Given the description of an element on the screen output the (x, y) to click on. 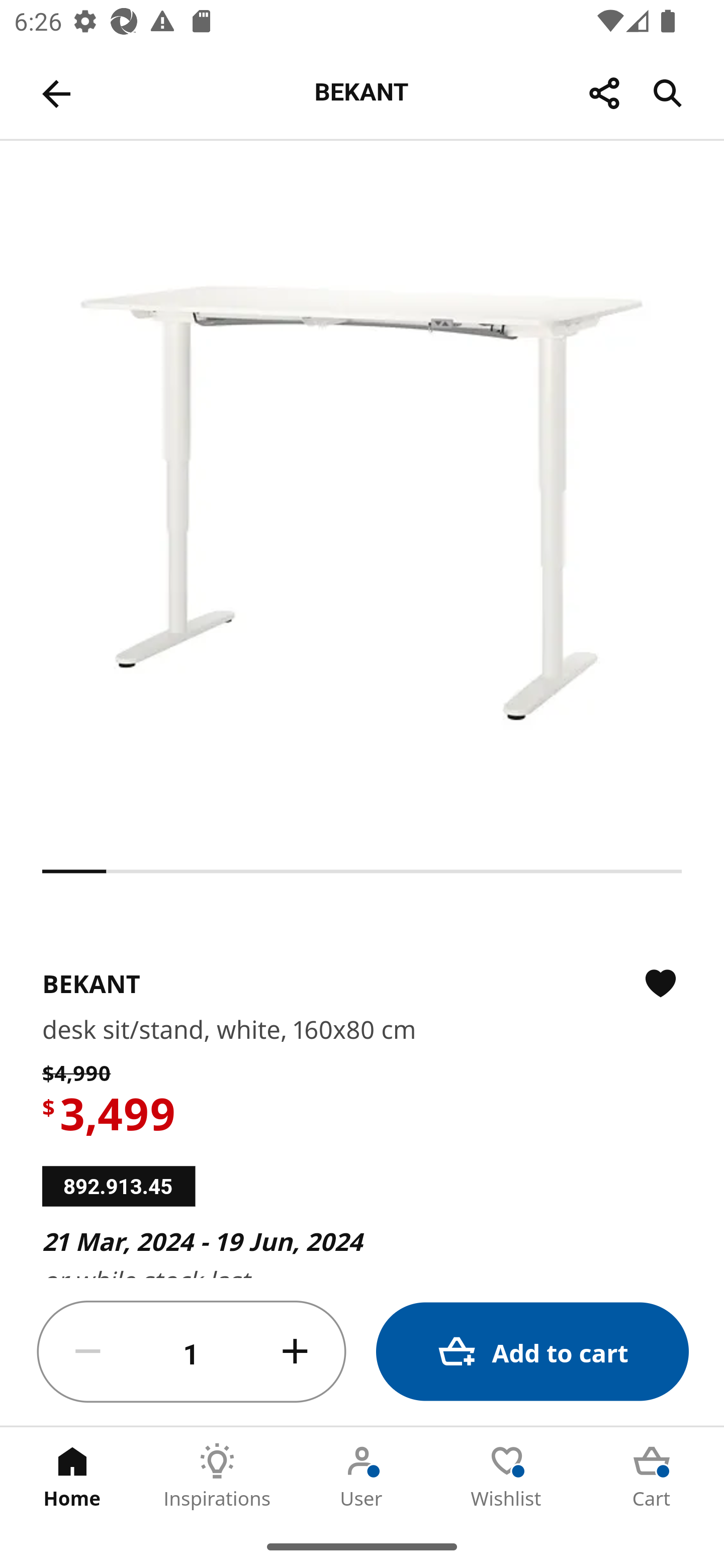
Add to cart (531, 1352)
1 (191, 1352)
Home
Tab 1 of 5 (72, 1476)
Inspirations
Tab 2 of 5 (216, 1476)
User
Tab 3 of 5 (361, 1476)
Wishlist
Tab 4 of 5 (506, 1476)
Cart
Tab 5 of 5 (651, 1476)
